Given the description of an element on the screen output the (x, y) to click on. 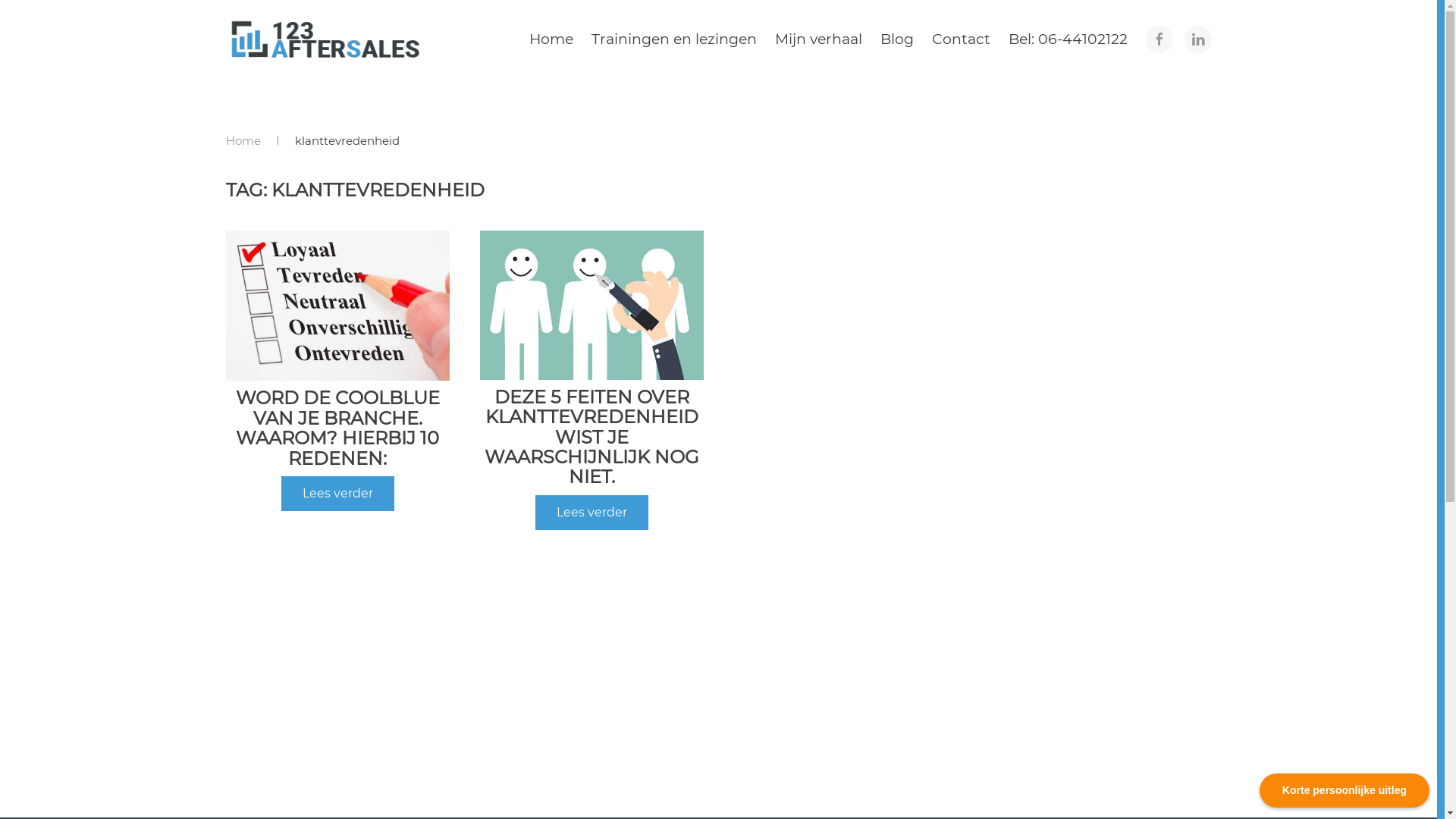
Mijn verhaal Element type: text (818, 39)
Trainingen en lezingen Element type: text (673, 39)
Home Element type: text (242, 141)
Lees verder Element type: text (336, 493)
Lees verder Element type: text (591, 512)
Blog Element type: text (896, 39)
Bel: 06-44102122 Element type: text (1067, 39)
Contact Element type: text (960, 39)
Home Element type: text (551, 39)
WORD DE COOLBLUE VAN JE BRANCHE. WAAROM? HIERBIJ 10 REDENEN: Element type: text (337, 427)
